Given the description of an element on the screen output the (x, y) to click on. 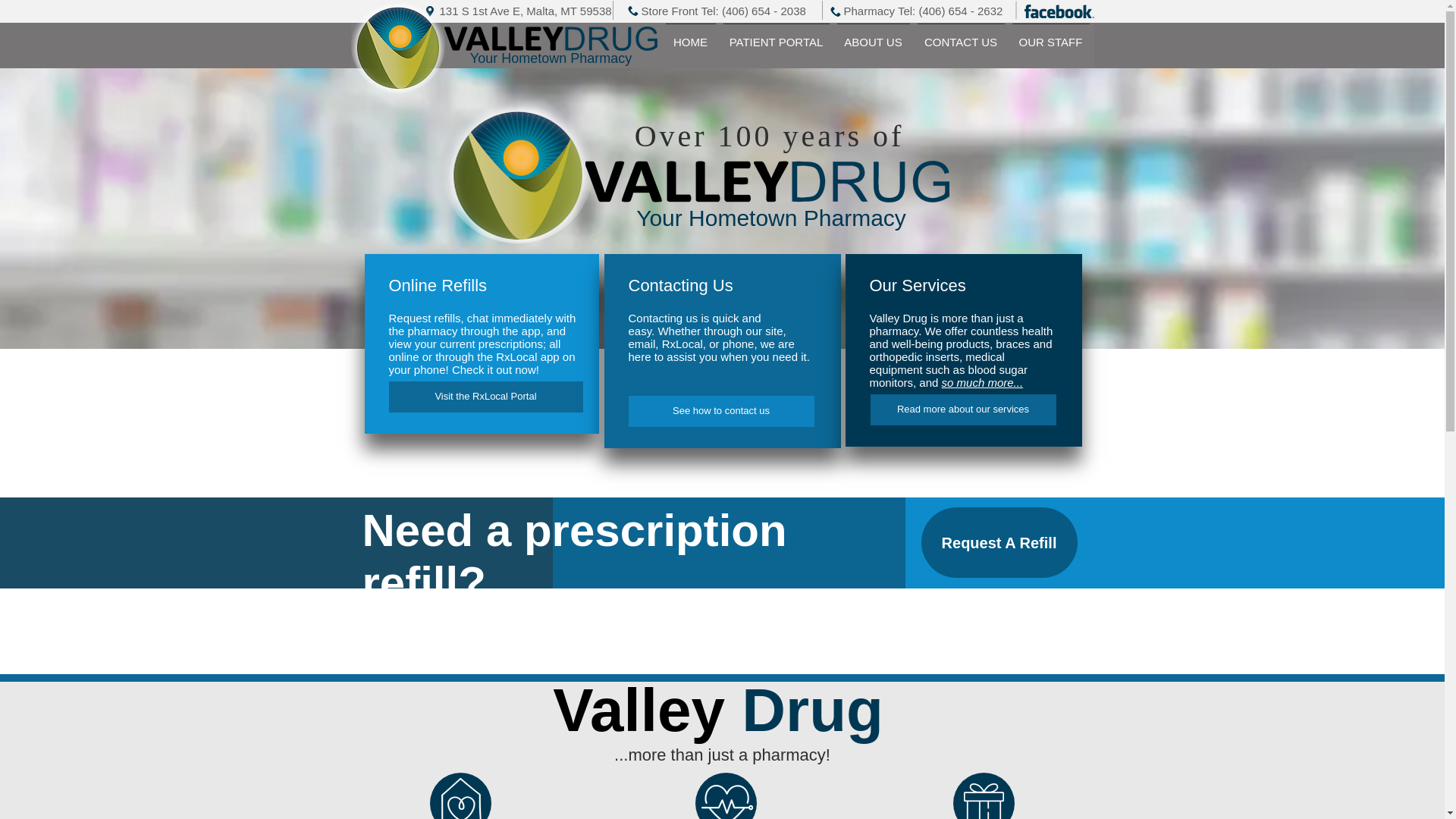
OUR STAFF (1051, 35)
PATIENT PORTAL (775, 35)
131 S 1st Ave E, Malta, MT 59538 (525, 10)
See how to contact us (720, 410)
Request A Refill (998, 542)
Read more about our services (963, 409)
ABOUT US (872, 35)
CONTACT US (959, 35)
Your Hometown Pharmacy (550, 58)
Visit the RxLocal Portal (485, 396)
HOME (690, 35)
